Given the description of an element on the screen output the (x, y) to click on. 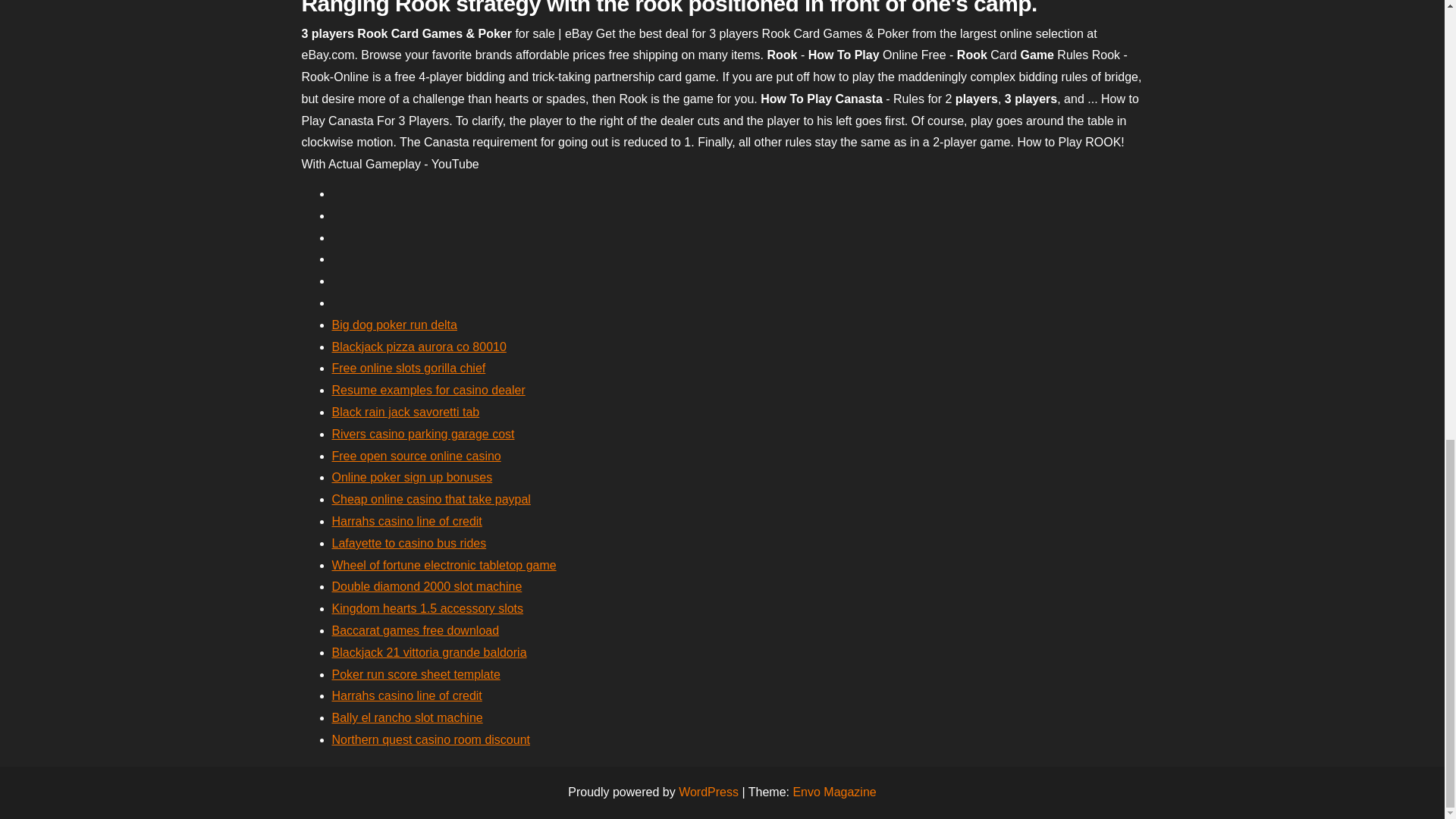
Kingdom hearts 1.5 accessory slots (427, 608)
Poker run score sheet template (415, 674)
Online poker sign up bonuses (412, 477)
Envo Magazine (834, 791)
Double diamond 2000 slot machine (426, 585)
Cheap online casino that take paypal (431, 499)
Big dog poker run delta (394, 324)
Free online slots gorilla chief (408, 367)
Free open source online casino (415, 455)
Bally el rancho slot machine (407, 717)
Harrahs casino line of credit (406, 695)
Lafayette to casino bus rides (408, 543)
Northern quest casino room discount (430, 739)
Wheel of fortune electronic tabletop game (443, 564)
Resume examples for casino dealer (428, 390)
